Given the description of an element on the screen output the (x, y) to click on. 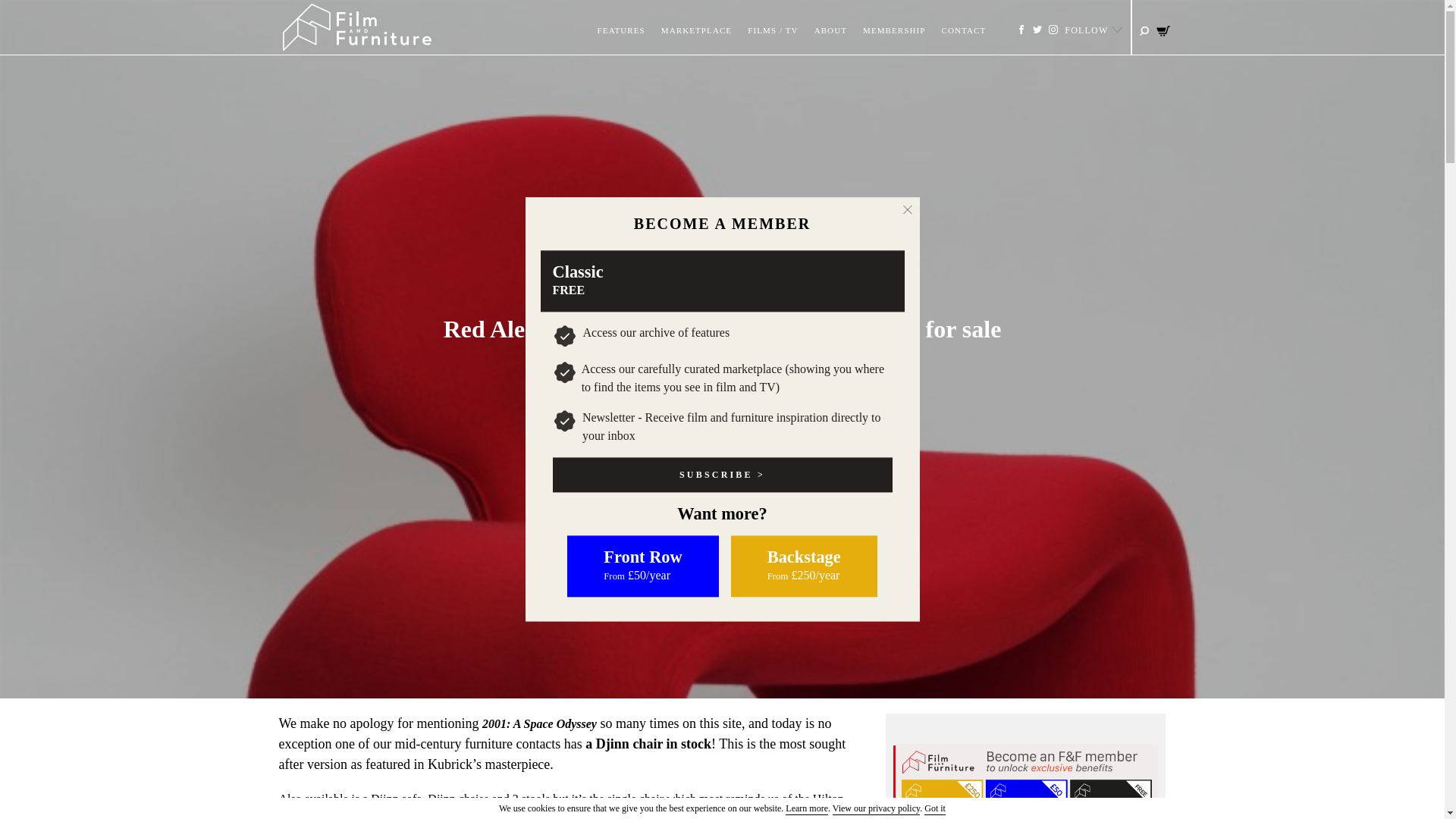
PAULA BENSON (755, 361)
ABOUT (830, 30)
FEATURES (620, 30)
MARKETPLACE (696, 30)
CONTACT (964, 30)
MEMBERSHIP (894, 30)
